Given the description of an element on the screen output the (x, y) to click on. 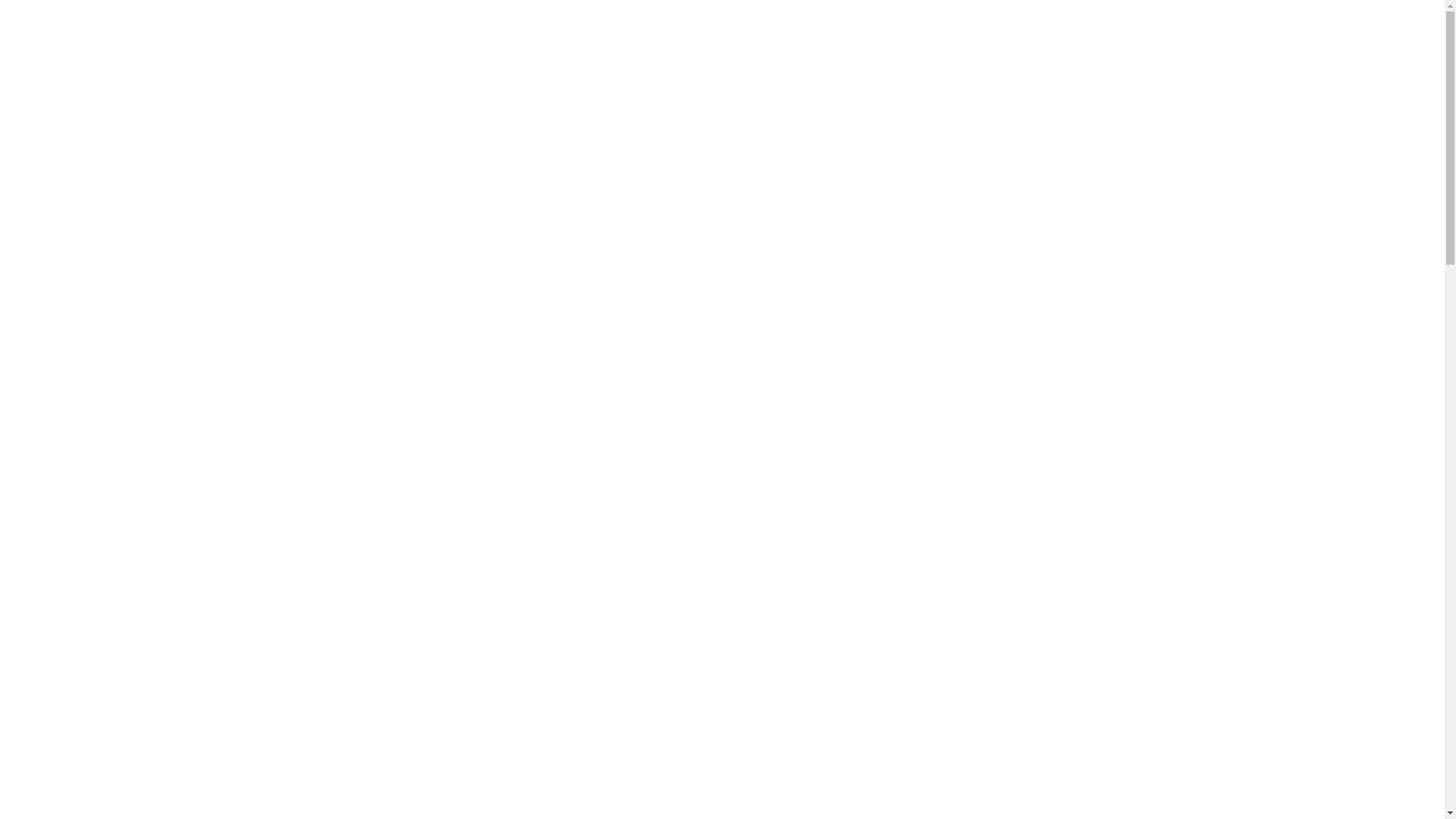
  Element type: text (1082, 80)
info@orgtorg.by Element type: text (845, 39)
  Element type: text (1097, 80)
info.torgi@orgtorg.by Element type: text (751, 39)
